Given the description of an element on the screen output the (x, y) to click on. 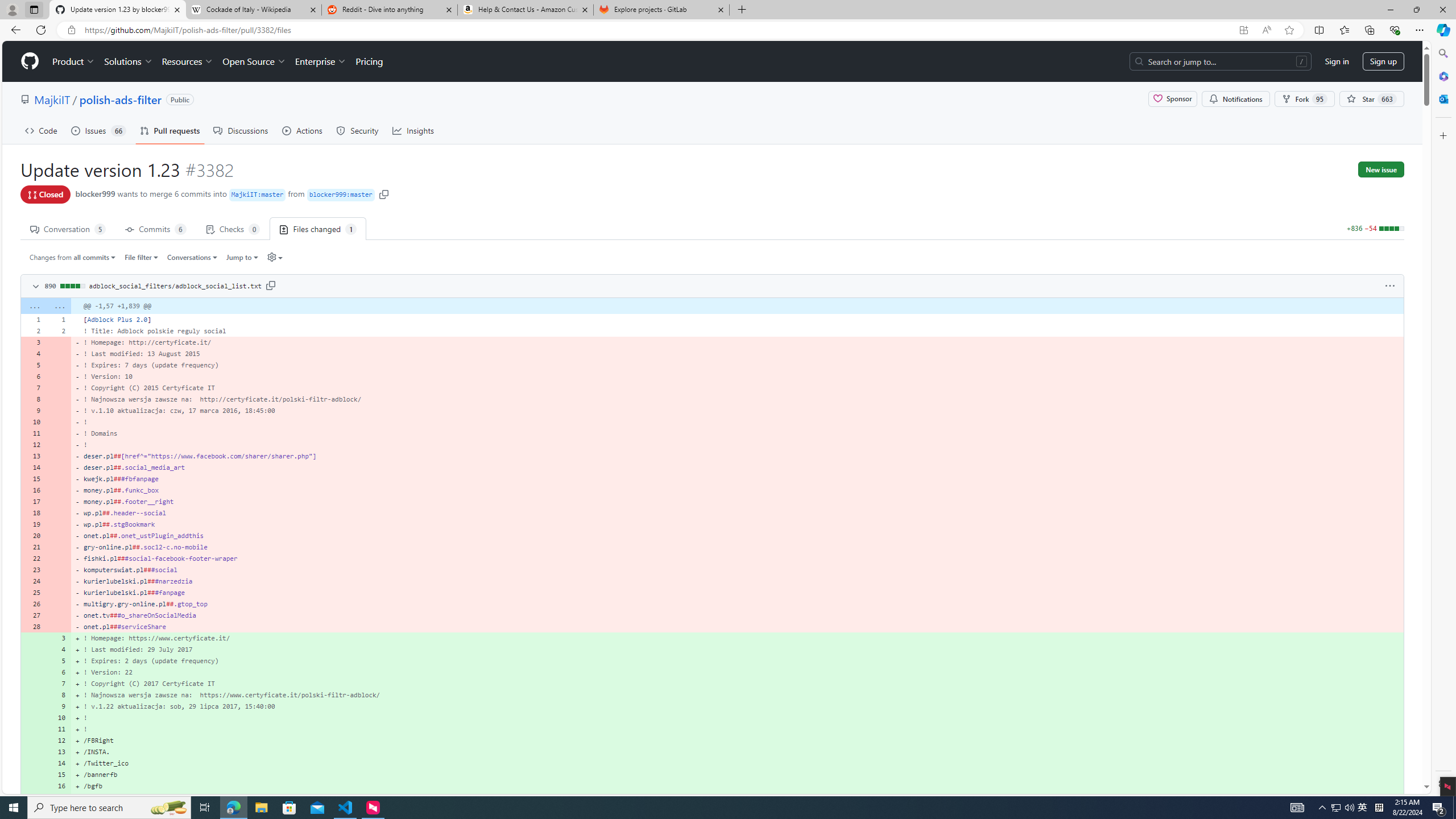
9 (58, 706)
- ! Version: 10 (737, 376)
+ ! Version: 22 (737, 672)
Class: blob-num blob-num-deletion empty-cell (58, 626)
8 (58, 695)
5 (58, 660)
7 (58, 683)
Sign up (1382, 61)
1 (58, 319)
16 (58, 785)
Issues66 (98, 130)
